Given the description of an element on the screen output the (x, y) to click on. 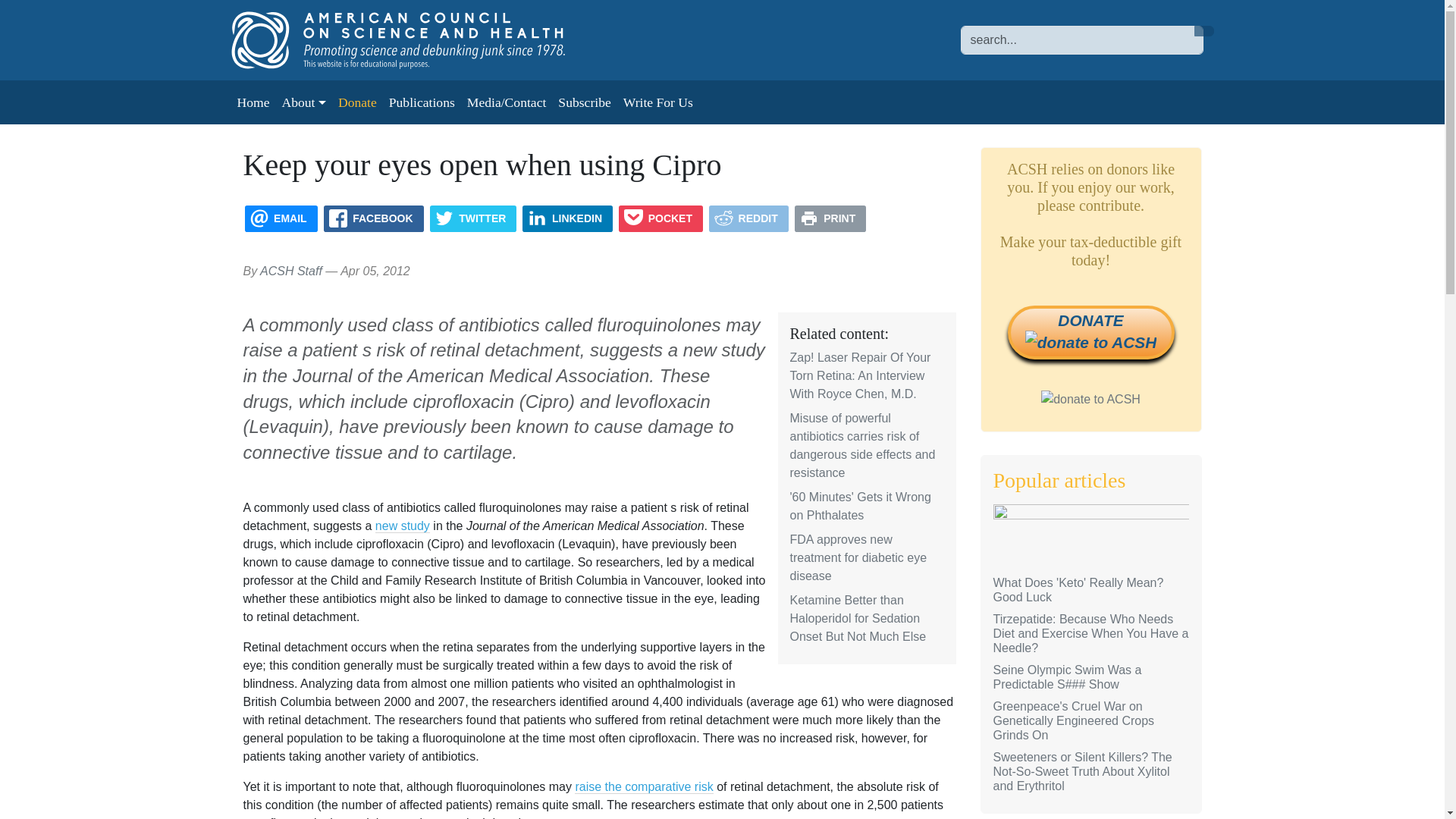
POCKET (660, 218)
raise the comparative risk (644, 786)
Publications (421, 101)
search (1202, 30)
Home (252, 101)
FDA approves new treatment for diabetic eye disease (858, 557)
ACSH Staff (290, 270)
PRINT (830, 218)
FACEBOOK (373, 218)
new study (402, 526)
